Given the description of an element on the screen output the (x, y) to click on. 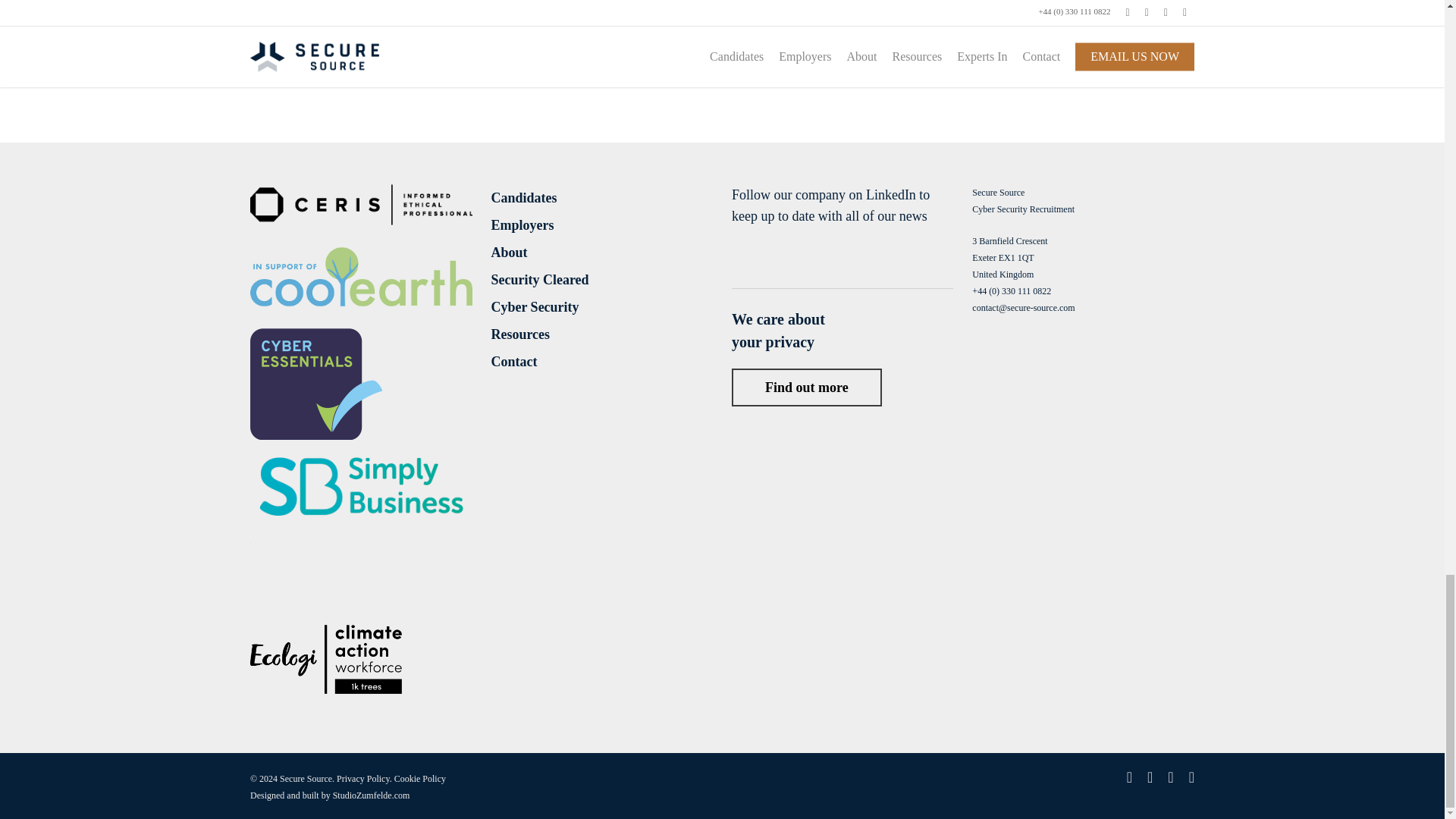
Resources (601, 333)
Candidates (601, 197)
Simply Business logo (360, 522)
Privacy Policy (363, 778)
About (601, 251)
Find out more (807, 387)
Contact (601, 361)
View our Ecologi profile (325, 667)
Security Cleared (601, 279)
Cyber Security (601, 306)
Employers (601, 224)
